Given the description of an element on the screen output the (x, y) to click on. 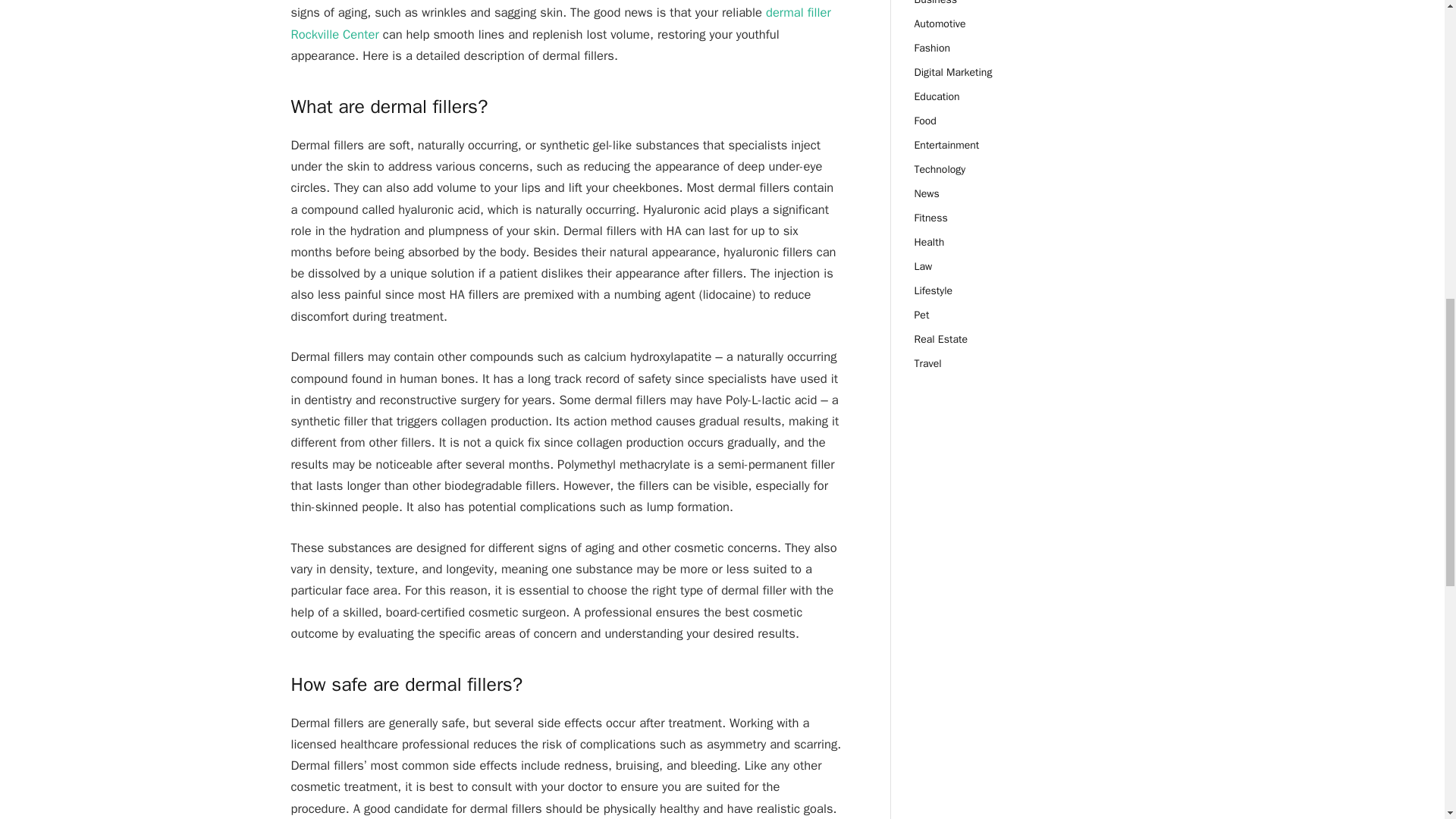
dermal filler Rockville Center (561, 22)
